Given the description of an element on the screen output the (x, y) to click on. 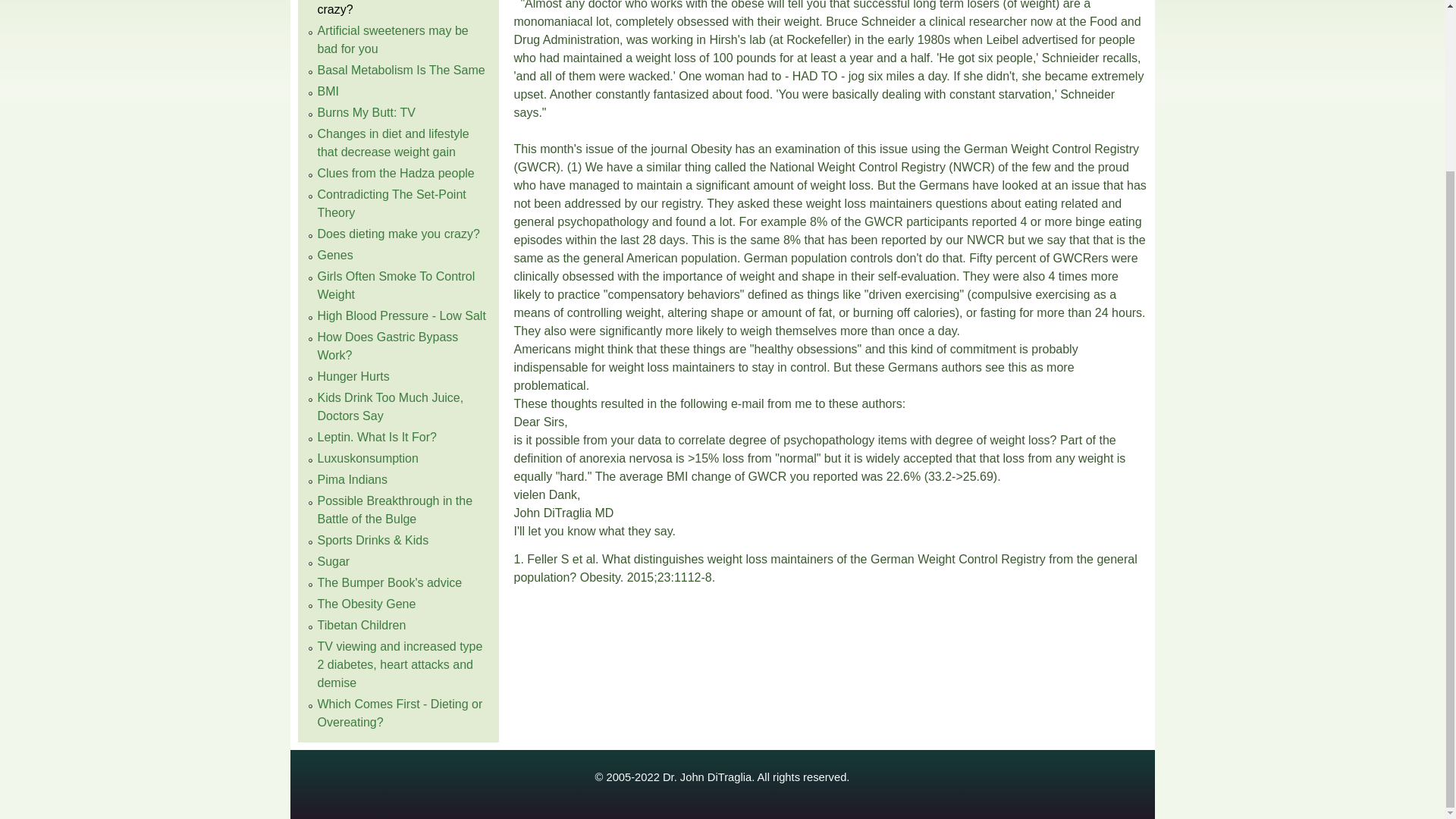
Genes (334, 254)
How Does Gastric Bypass Work? (387, 345)
Changes in diet and lifestyle that decrease weight gain (392, 142)
Are weight loss maintainers crazy? (391, 7)
The Obesity Gene (365, 603)
Leptin. What Is It For? (376, 436)
Sugar (333, 561)
Possible Breakthrough in the Battle of the Bulge (394, 509)
Clues from the Hadza people (395, 173)
Burns My Butt: TV (365, 112)
